Given the description of an element on the screen output the (x, y) to click on. 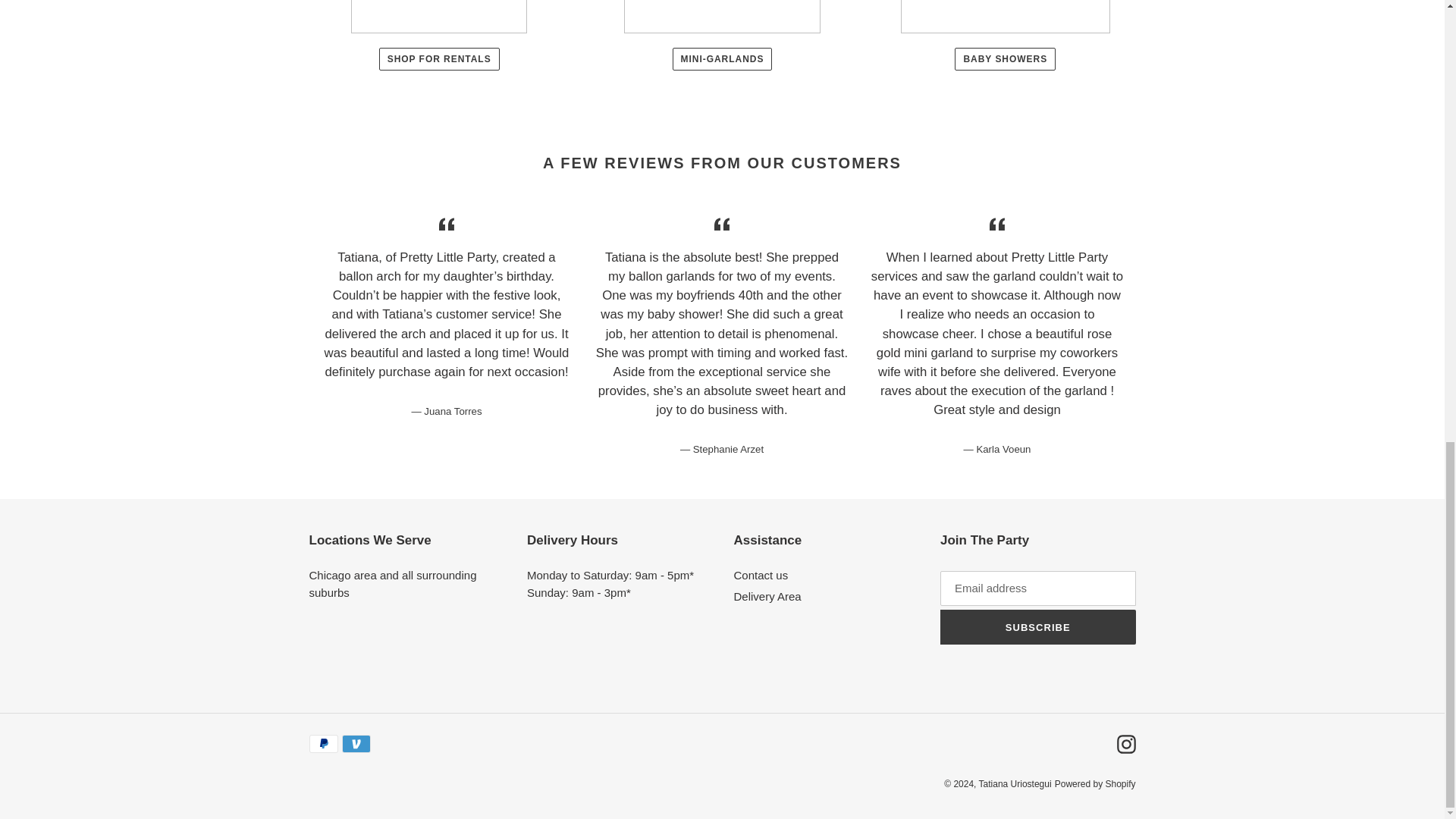
MINI-GARLANDS (722, 58)
SUBSCRIBE (1037, 626)
Contact us (761, 574)
BABY SHOWERS (1005, 58)
Delivery Area (767, 595)
Instagram (1125, 743)
SHOP FOR RENTALS (438, 58)
Tatiana Uriostegui (1014, 783)
